Given the description of an element on the screen output the (x, y) to click on. 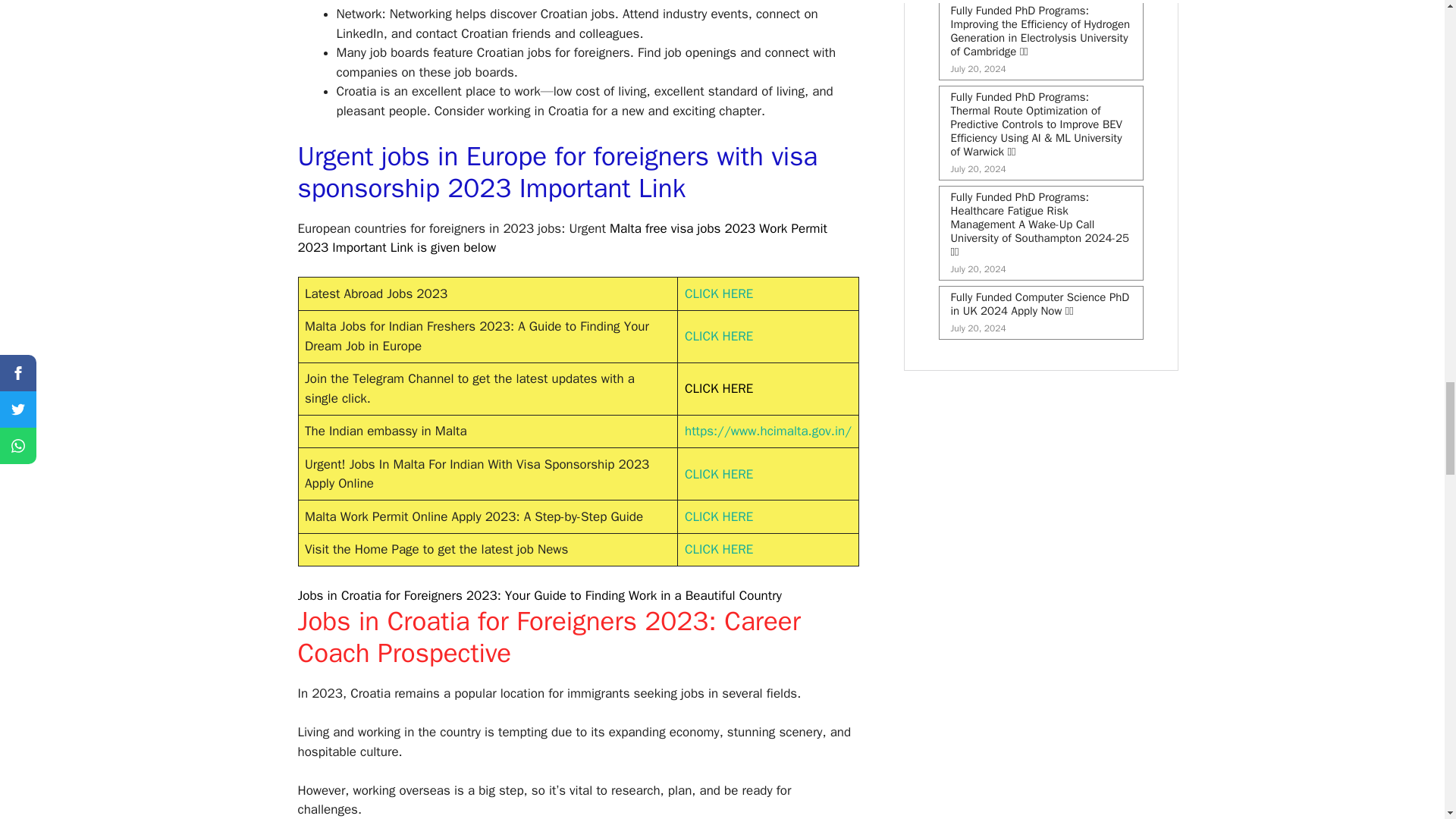
CLICK HERE (718, 516)
CLICK HERE (718, 335)
CLICK HERE (718, 473)
CLICK HERE (718, 388)
CLICK HERE (718, 293)
CLICK HERE (718, 549)
